Given the description of an element on the screen output the (x, y) to click on. 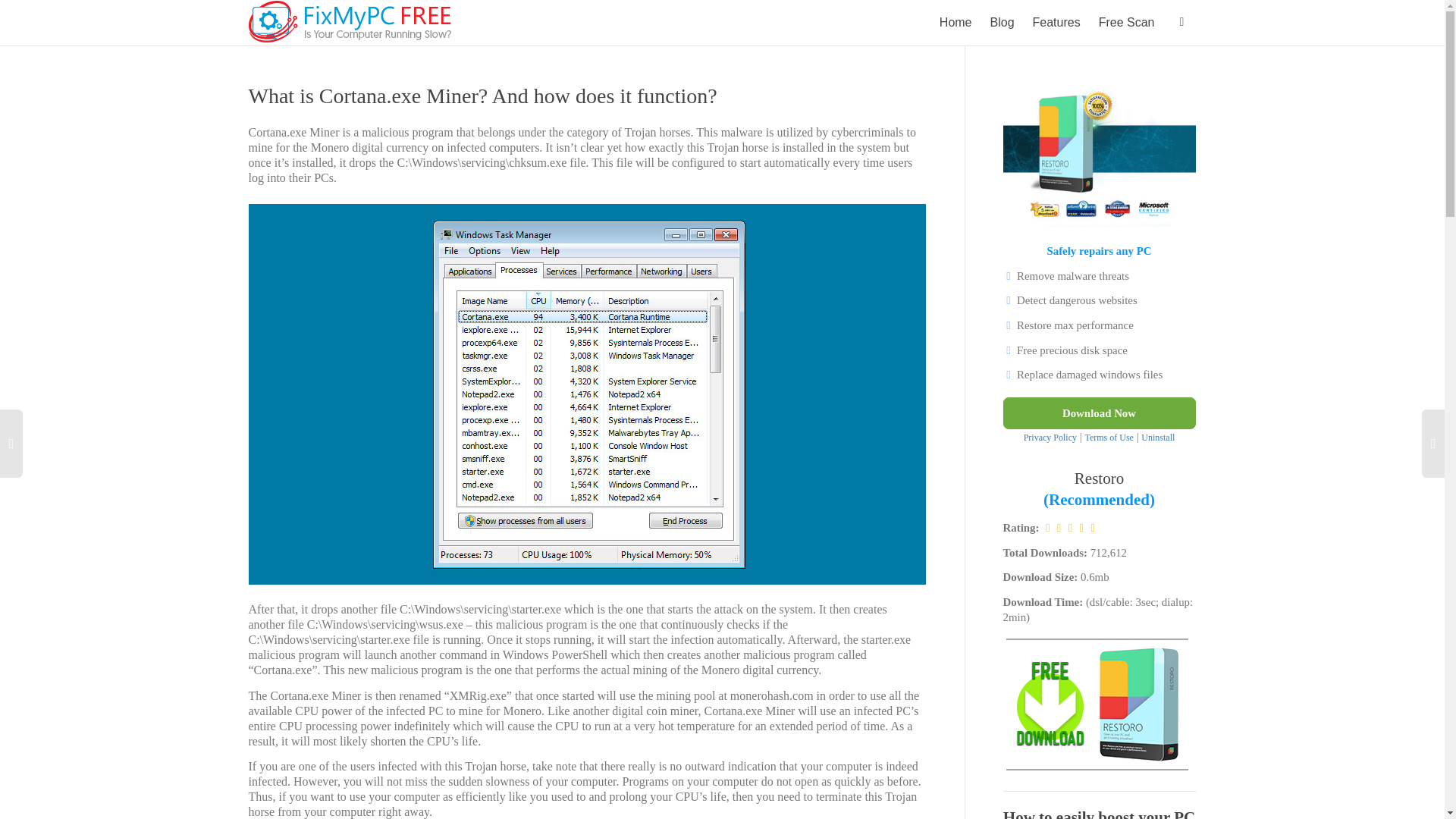
Features (1056, 22)
Features (1056, 22)
Free Scan (1126, 22)
Fix My PC Free (349, 21)
Free Scan (1126, 22)
